Given the description of an element on the screen output the (x, y) to click on. 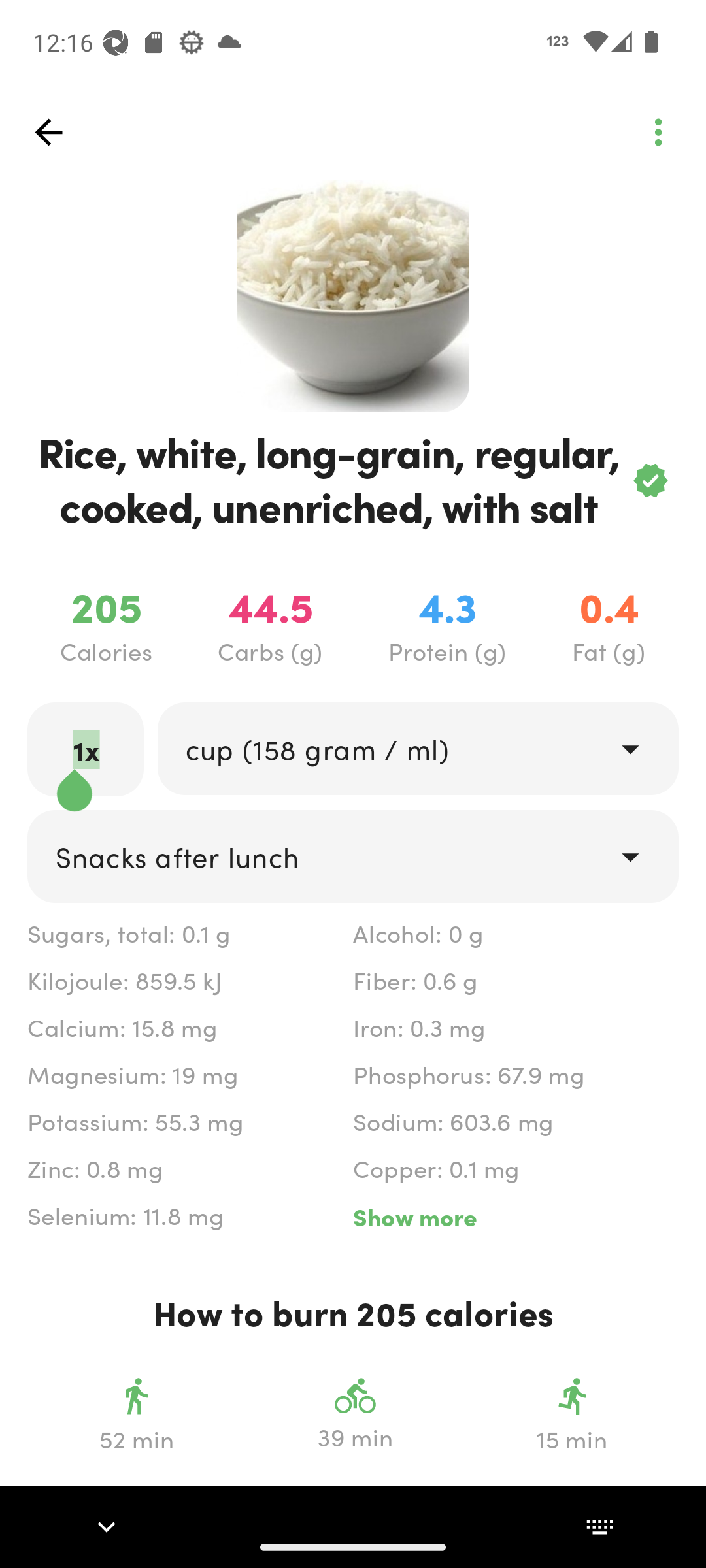
top_left_action (48, 132)
top_left_action (658, 132)
1x labeled_edit_text (85, 749)
drop_down cup (158 gram / ml) (417, 748)
drop_down Snacks after lunch (352, 856)
Show more (515, 1216)
